Given the description of an element on the screen output the (x, y) to click on. 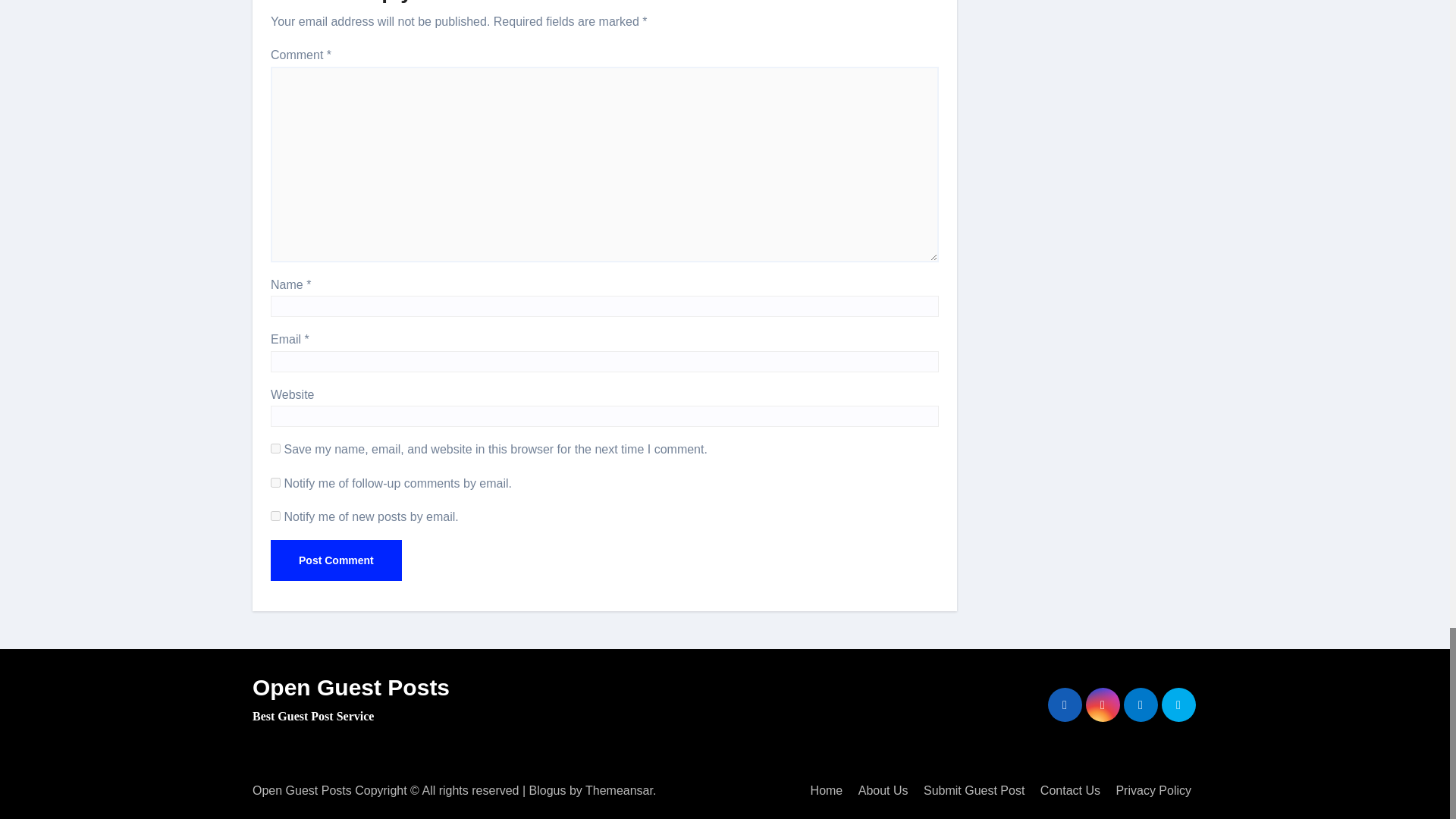
yes (275, 448)
Contact Us (1069, 790)
About Us (882, 790)
subscribe (275, 482)
Home (826, 790)
Privacy Policy (1152, 790)
subscribe (275, 515)
Submit Guest Post (973, 790)
Post Comment (335, 559)
